Given the description of an element on the screen output the (x, y) to click on. 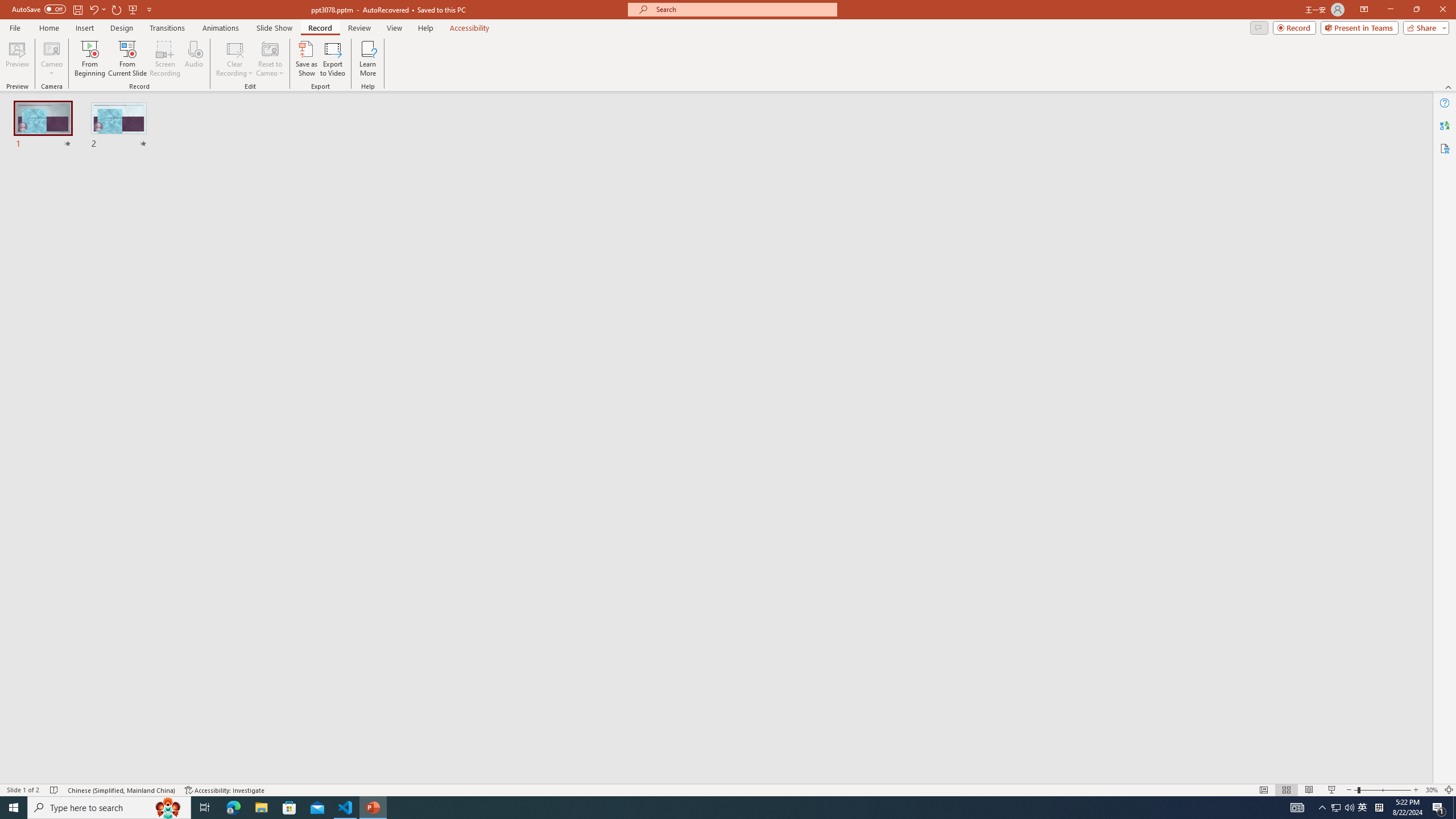
Zoom 30% (1431, 790)
Screen Recording (165, 58)
From Beginning... (89, 58)
Export to Video (332, 58)
